Given the description of an element on the screen output the (x, y) to click on. 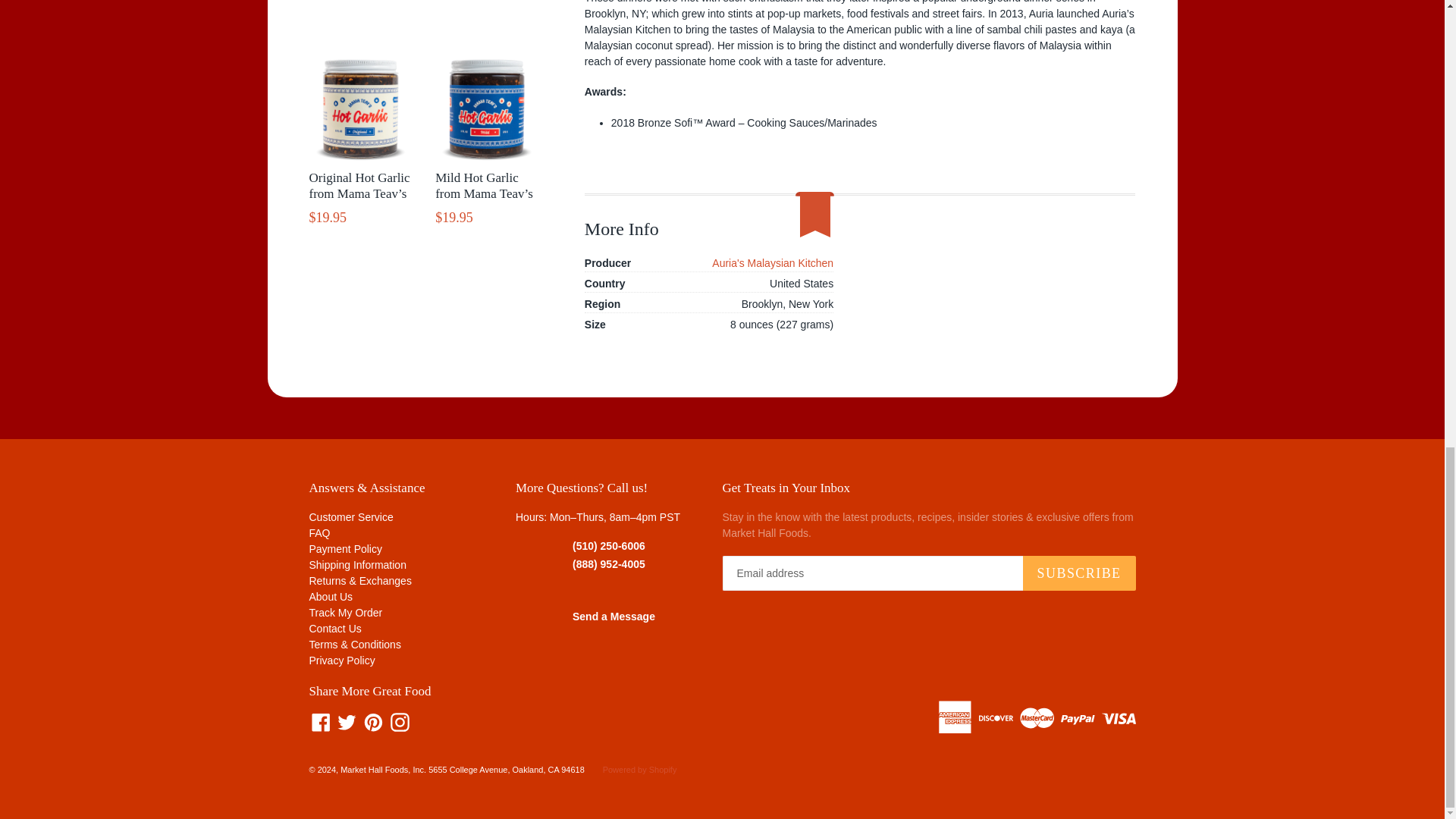
Market Hall Foods on Pinterest (373, 722)
Market Hall Foods on Twitter (346, 722)
Market Hall Foods on Facebook (320, 722)
Market Hall Foods on Instagram (400, 722)
